Given the description of an element on the screen output the (x, y) to click on. 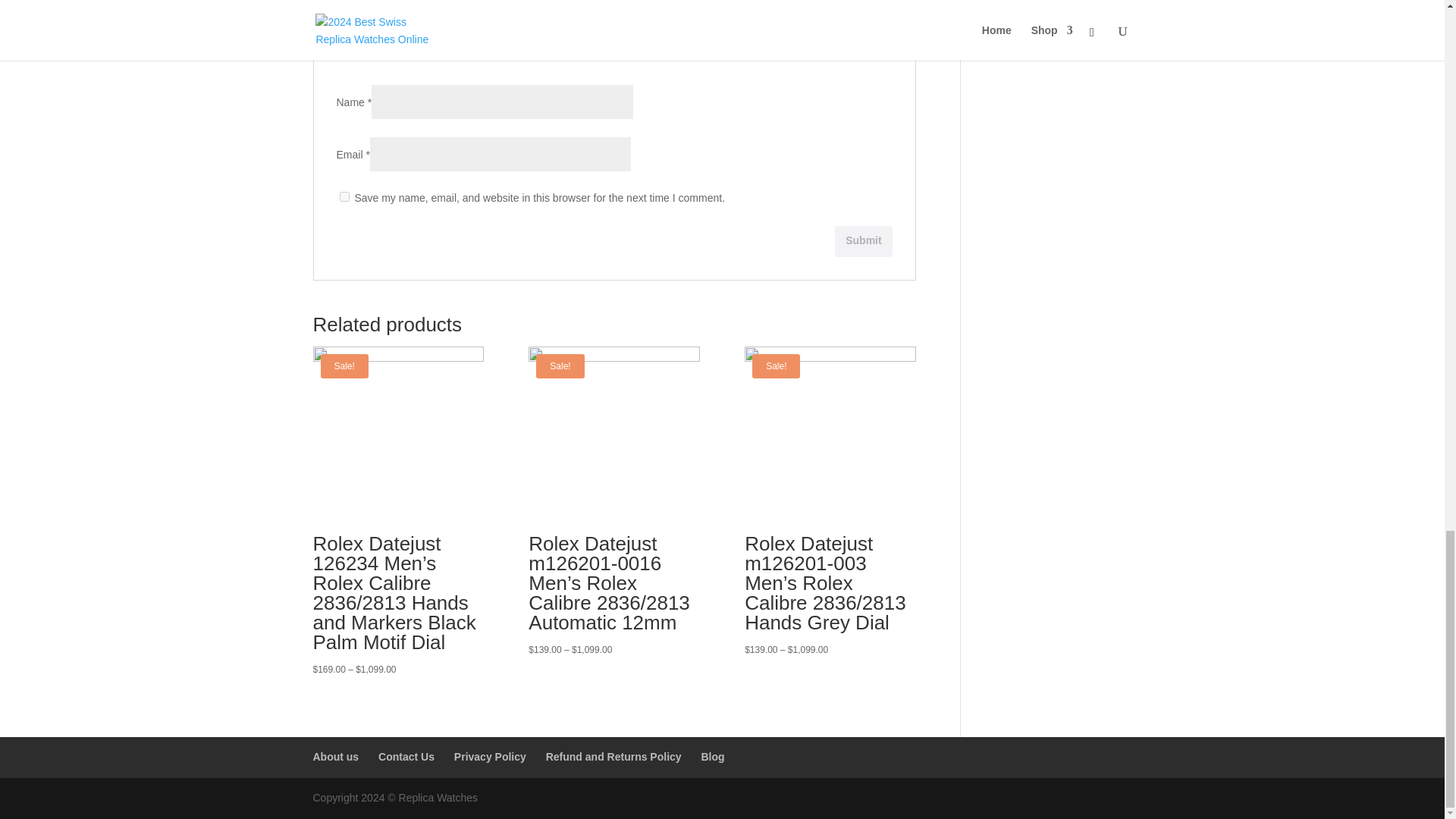
Submit (862, 241)
Submit (862, 241)
yes (344, 196)
